Given the description of an element on the screen output the (x, y) to click on. 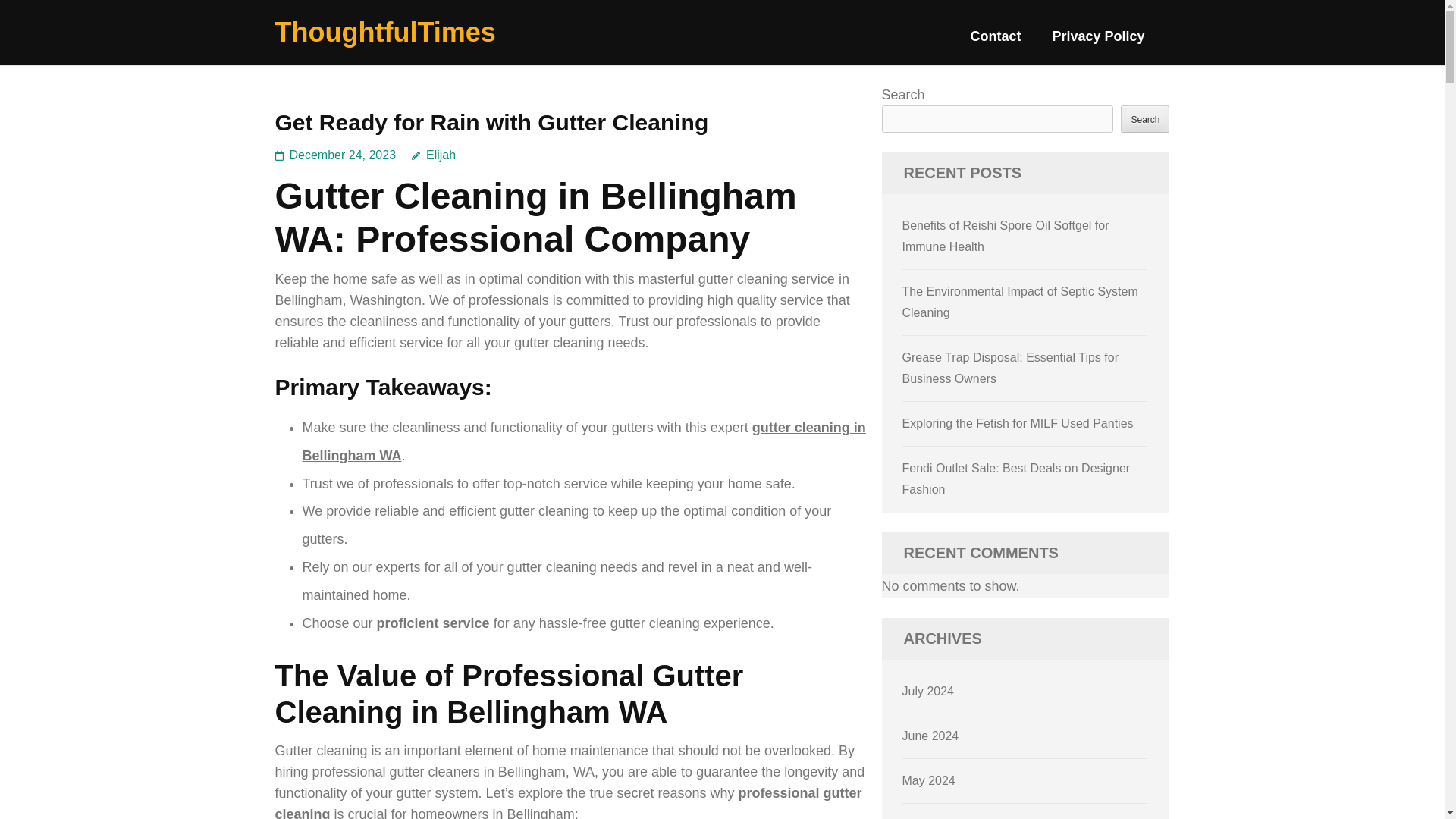
ThoughtfulTimes (385, 31)
Fendi Outlet Sale: Best Deals on Designer Fashion (1016, 478)
Benefits of Reishi Spore Oil Softgel for Immune Health (1005, 236)
December 24, 2023 (342, 154)
Contact (994, 42)
July 2024 (928, 690)
gutter cleaning in Bellingham WA (582, 441)
Grease Trap Disposal: Essential Tips for Business Owners (1010, 367)
Elijah (433, 154)
The Environmental Impact of Septic System Cleaning (1020, 302)
June 2024 (930, 735)
Exploring the Fetish for MILF Used Panties (1018, 422)
Search (1145, 118)
May 2024 (928, 780)
Privacy Policy (1097, 42)
